Given the description of an element on the screen output the (x, y) to click on. 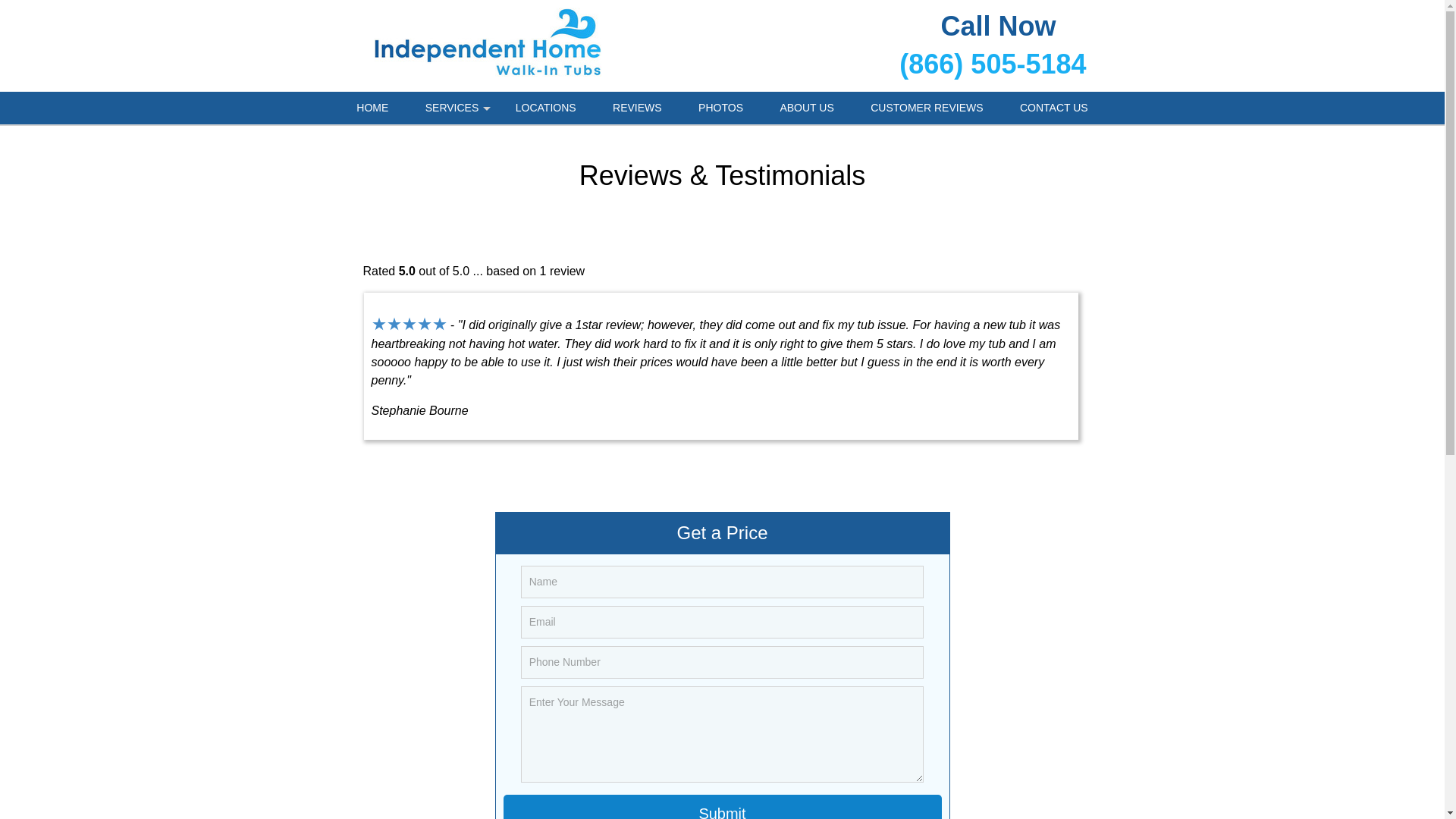
ABOUT US (806, 107)
Submit (722, 806)
REVIEWS (636, 107)
PHOTOS (720, 107)
CUSTOMER REVIEWS (925, 107)
CONTACT US (1054, 107)
LOCATIONS (545, 107)
HOME (371, 107)
